Given the description of an element on the screen output the (x, y) to click on. 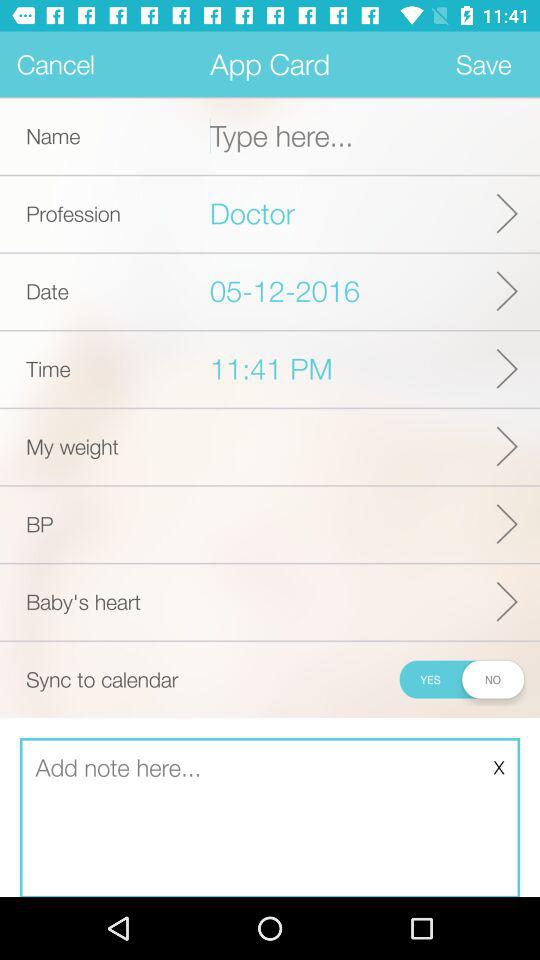
launch the icon to the right of the sync to calendar icon (460, 679)
